Given the description of an element on the screen output the (x, y) to click on. 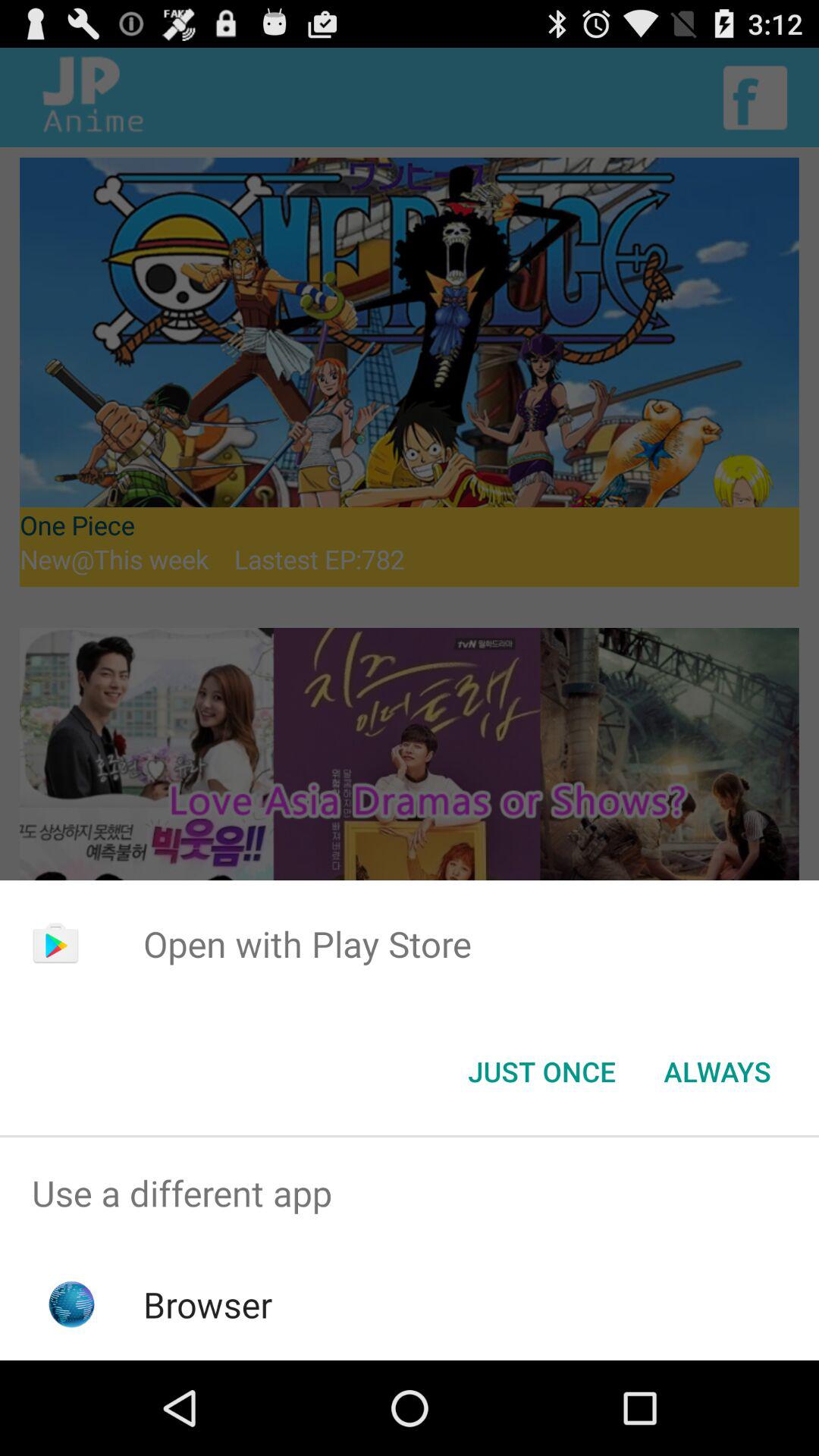
press item above browser app (409, 1192)
